Given the description of an element on the screen output the (x, y) to click on. 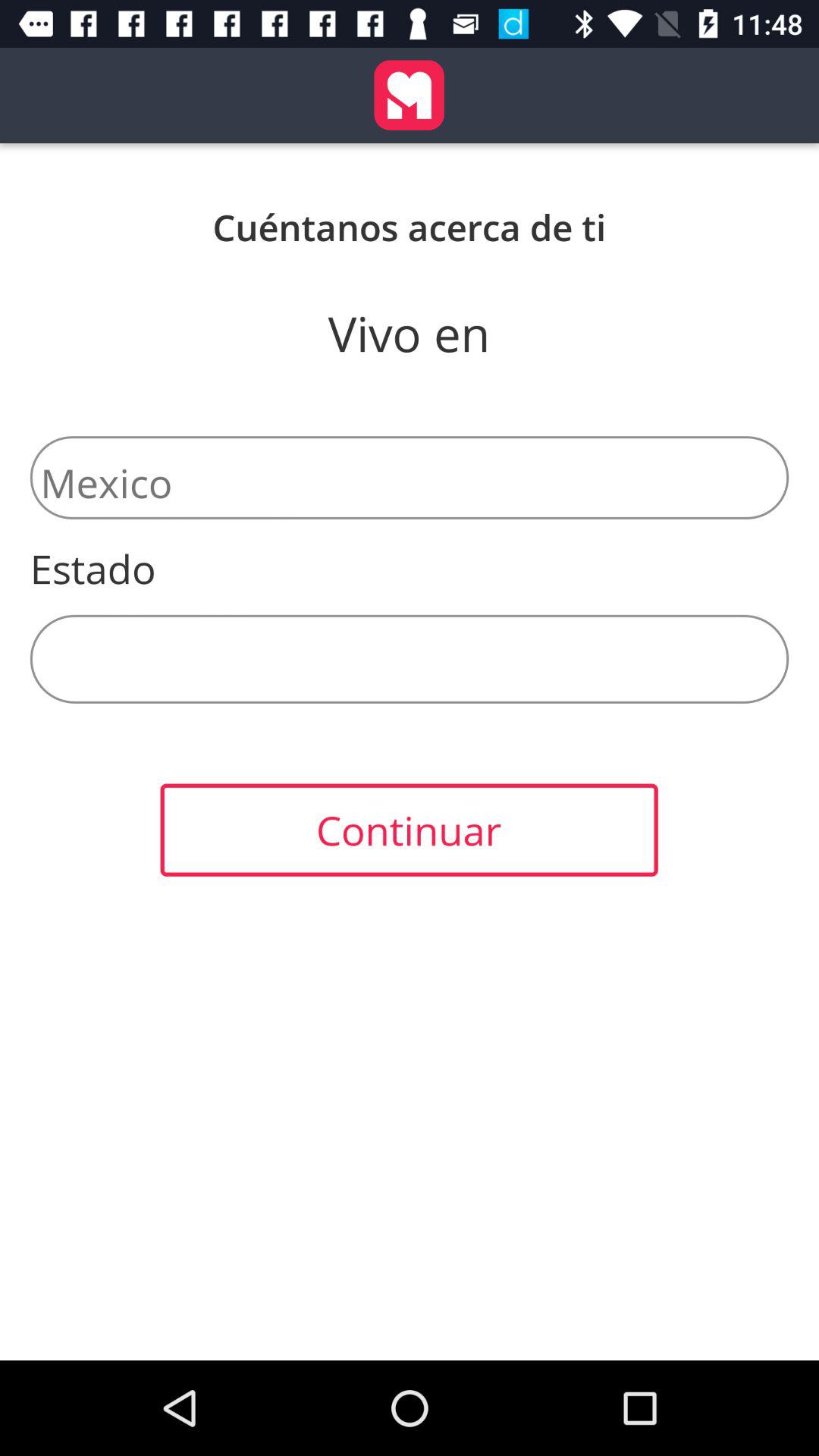
select the continuar icon (409, 829)
